Given the description of an element on the screen output the (x, y) to click on. 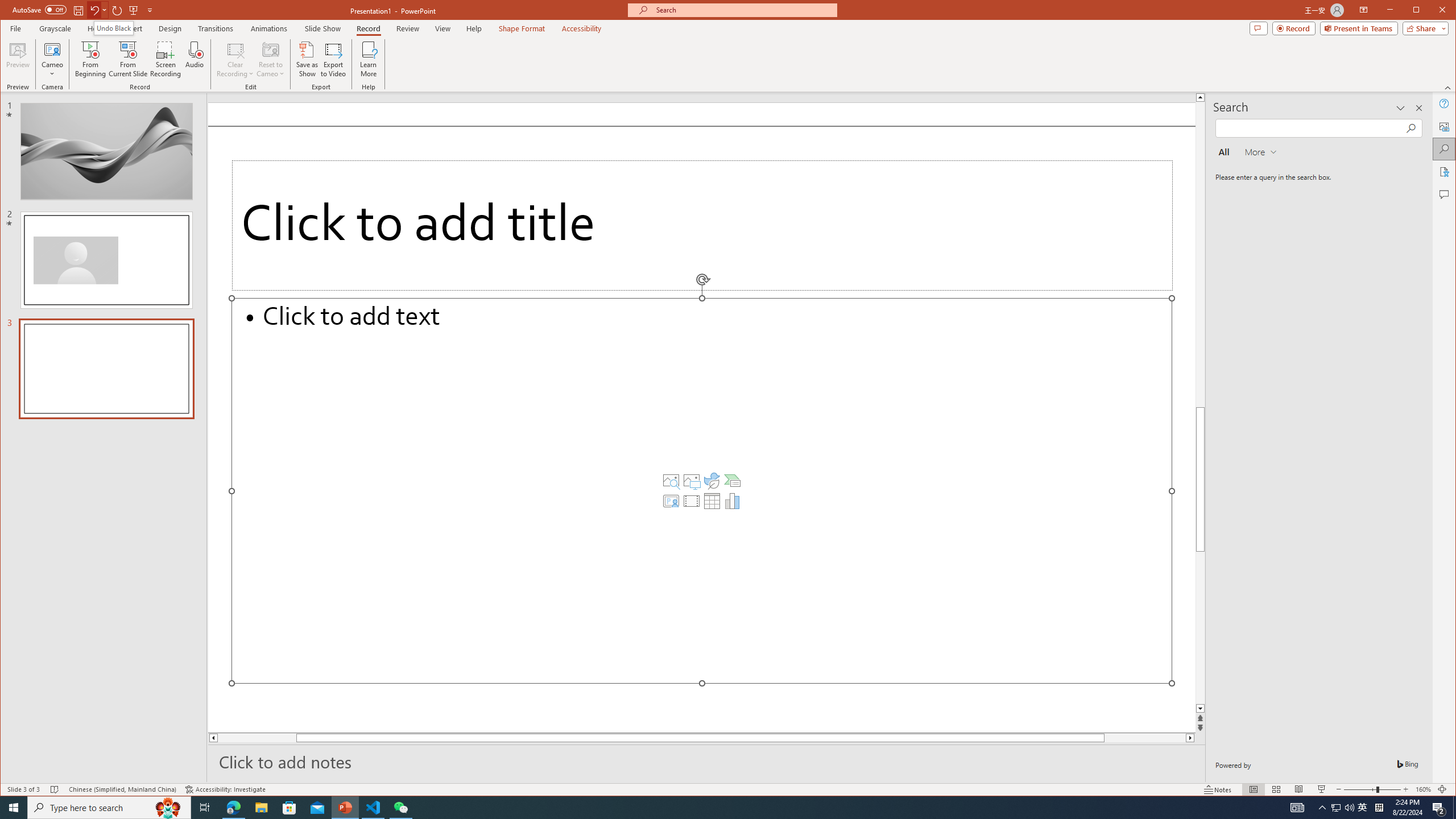
Q2790: 100% (1349, 807)
Learn More (368, 59)
Insert Chart (732, 501)
Insert an Icon (711, 480)
Reset to Cameo (269, 59)
Visual Studio Code - 1 running window (373, 807)
Page down (1162, 737)
Title TextBox (701, 225)
Close pane (1418, 107)
